Given the description of an element on the screen output the (x, y) to click on. 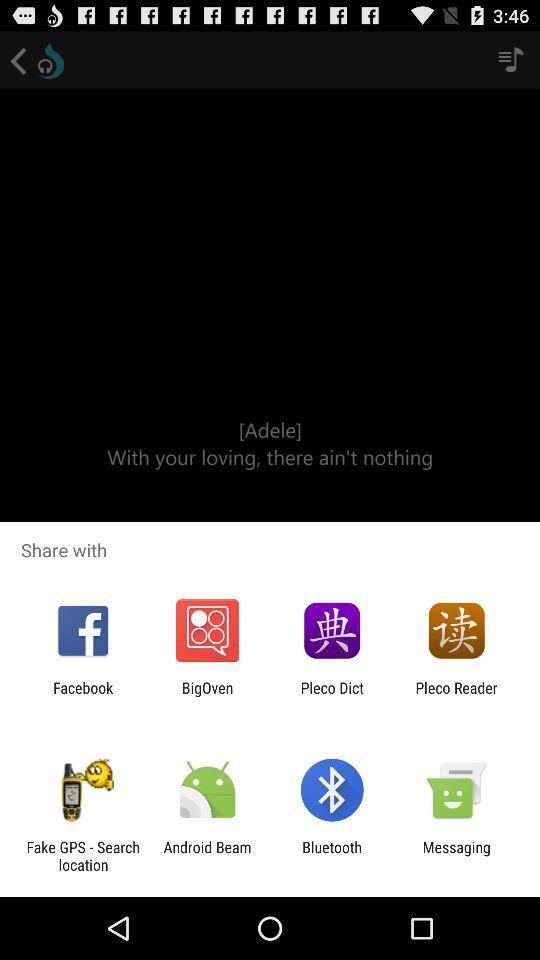
turn on icon to the left of bluetooth app (207, 856)
